Given the description of an element on the screen output the (x, y) to click on. 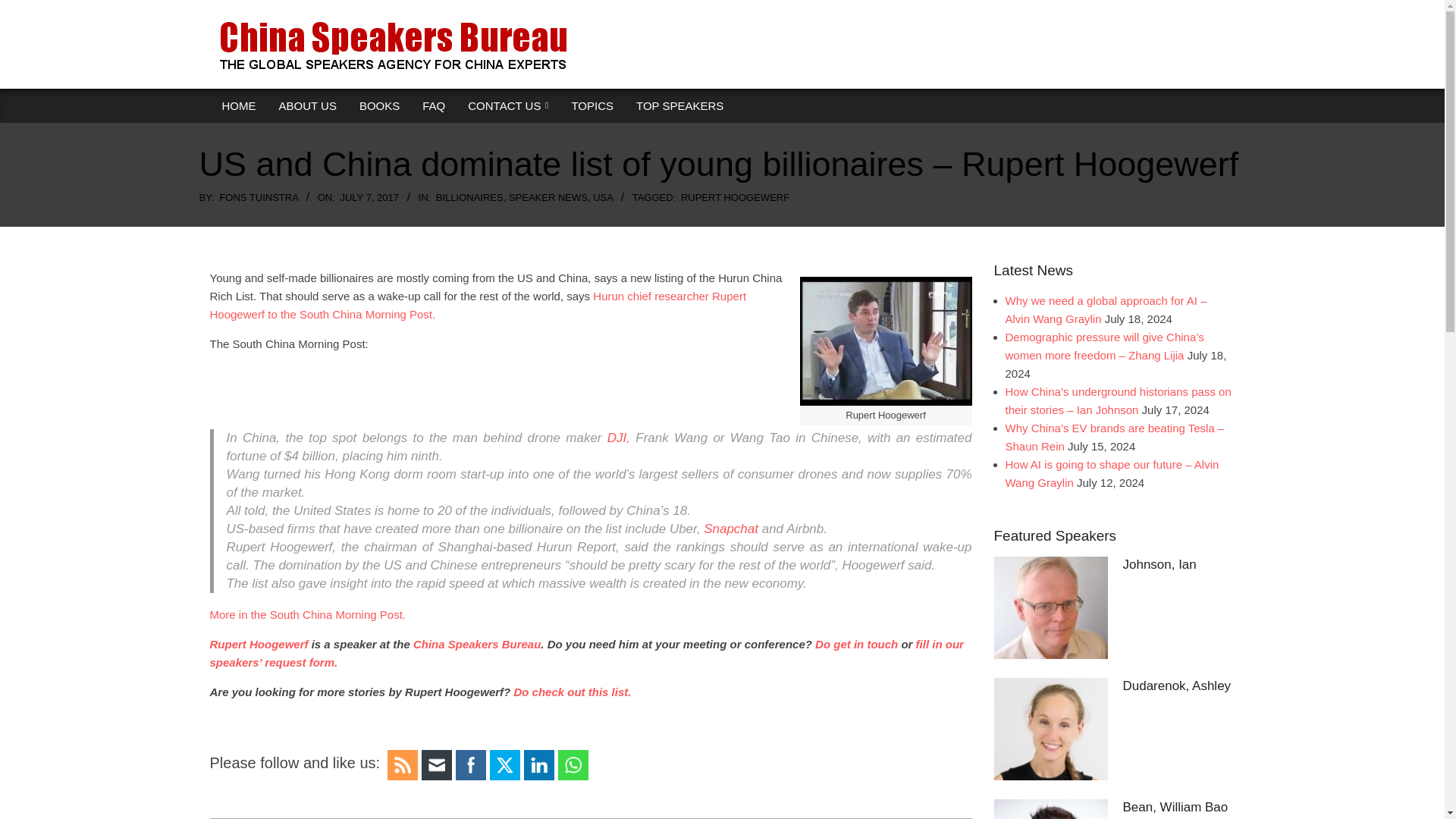
Do get in touch (855, 644)
China Speakers Bureau (476, 644)
More in the South China Morning Post.  (309, 614)
Snapchat (730, 528)
HOME (239, 105)
Rupert Hoogewerf (258, 644)
USA (602, 197)
ABOUT US (306, 105)
TOP SPEAKERS (679, 105)
FONS TUINSTRA (258, 197)
RSS (402, 764)
Friday, July 7, 2017, 7:32 am (368, 197)
RUPERT HOOGEWERF (735, 197)
TOPICS (591, 105)
Search (24, 8)
